Given the description of an element on the screen output the (x, y) to click on. 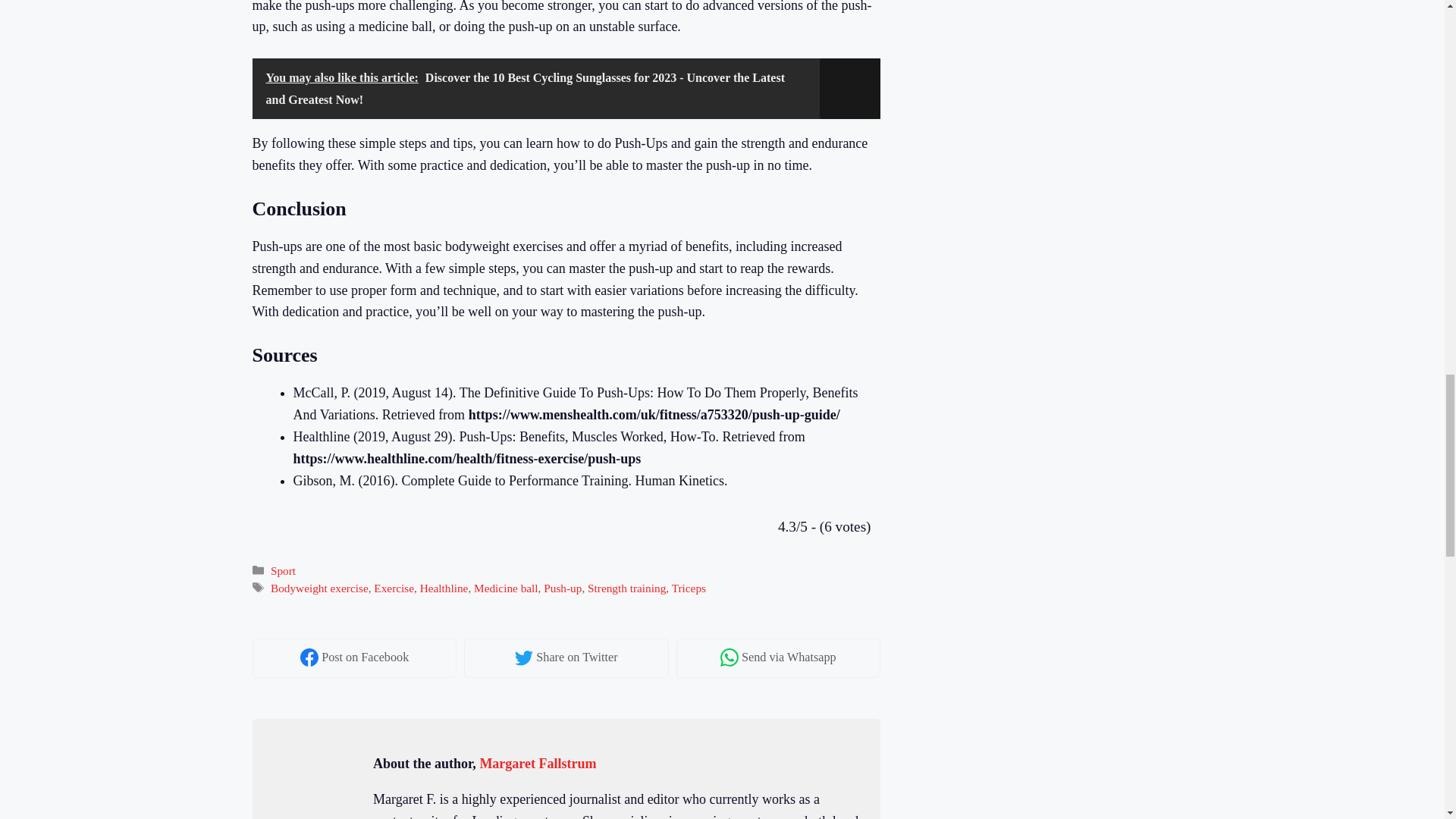
Healthline (444, 587)
Medicine ball (506, 587)
Exercise (393, 587)
Margaret Fallstrum (537, 763)
Sport (282, 570)
Strength training (626, 587)
Push-up (561, 587)
Triceps (688, 587)
Bodyweight exercise (319, 587)
